Given the description of an element on the screen output the (x, y) to click on. 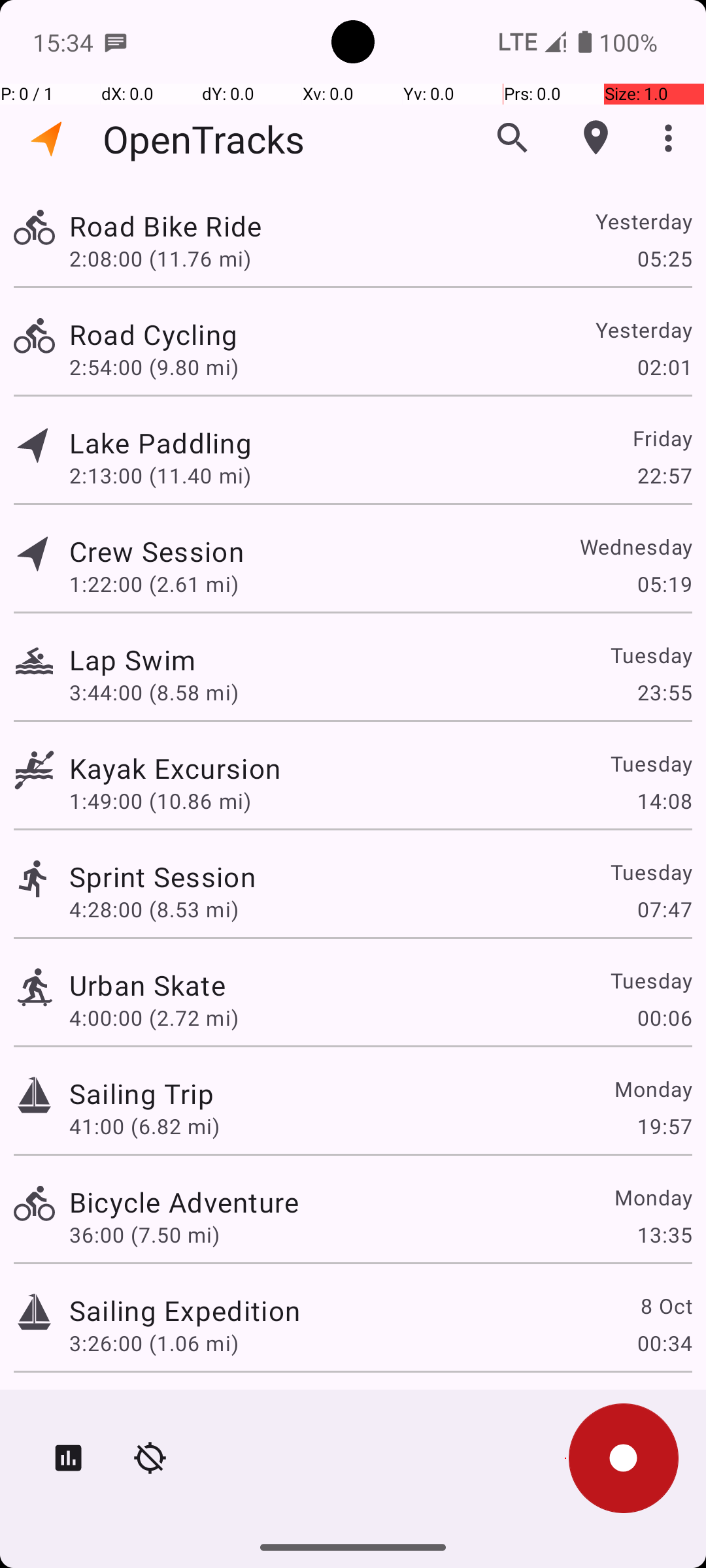
Road Bike Ride Element type: android.widget.TextView (165, 225)
2:08:00 (11.76 mi) Element type: android.widget.TextView (159, 258)
05:25 Element type: android.widget.TextView (664, 258)
Road Cycling Element type: android.widget.TextView (152, 333)
2:54:00 (9.80 mi) Element type: android.widget.TextView (153, 366)
02:01 Element type: android.widget.TextView (664, 366)
Lake Paddling Element type: android.widget.TextView (160, 442)
2:13:00 (11.40 mi) Element type: android.widget.TextView (159, 475)
22:57 Element type: android.widget.TextView (664, 475)
Crew Session Element type: android.widget.TextView (156, 550)
1:22:00 (2.61 mi) Element type: android.widget.TextView (153, 583)
05:19 Element type: android.widget.TextView (664, 583)
Lap Swim Element type: android.widget.TextView (132, 659)
3:44:00 (8.58 mi) Element type: android.widget.TextView (153, 692)
23:55 Element type: android.widget.TextView (664, 692)
Kayak Excursion Element type: android.widget.TextView (174, 767)
1:49:00 (10.86 mi) Element type: android.widget.TextView (159, 800)
14:08 Element type: android.widget.TextView (664, 800)
Sprint Session Element type: android.widget.TextView (162, 876)
4:28:00 (8.53 mi) Element type: android.widget.TextView (153, 909)
07:47 Element type: android.widget.TextView (664, 909)
Urban Skate Element type: android.widget.TextView (147, 984)
4:00:00 (2.72 mi) Element type: android.widget.TextView (153, 1017)
00:06 Element type: android.widget.TextView (664, 1017)
Sailing Trip Element type: android.widget.TextView (141, 1092)
41:00 (6.82 mi) Element type: android.widget.TextView (144, 1125)
19:57 Element type: android.widget.TextView (664, 1125)
Bicycle Adventure Element type: android.widget.TextView (183, 1201)
36:00 (7.50 mi) Element type: android.widget.TextView (144, 1234)
13:35 Element type: android.widget.TextView (664, 1234)
Sailing Expedition Element type: android.widget.TextView (184, 1309)
3:26:00 (1.06 mi) Element type: android.widget.TextView (153, 1342)
00:34 Element type: android.widget.TextView (664, 1342)
Intense day Element type: android.widget.TextView (143, 1408)
